Given the description of an element on the screen output the (x, y) to click on. 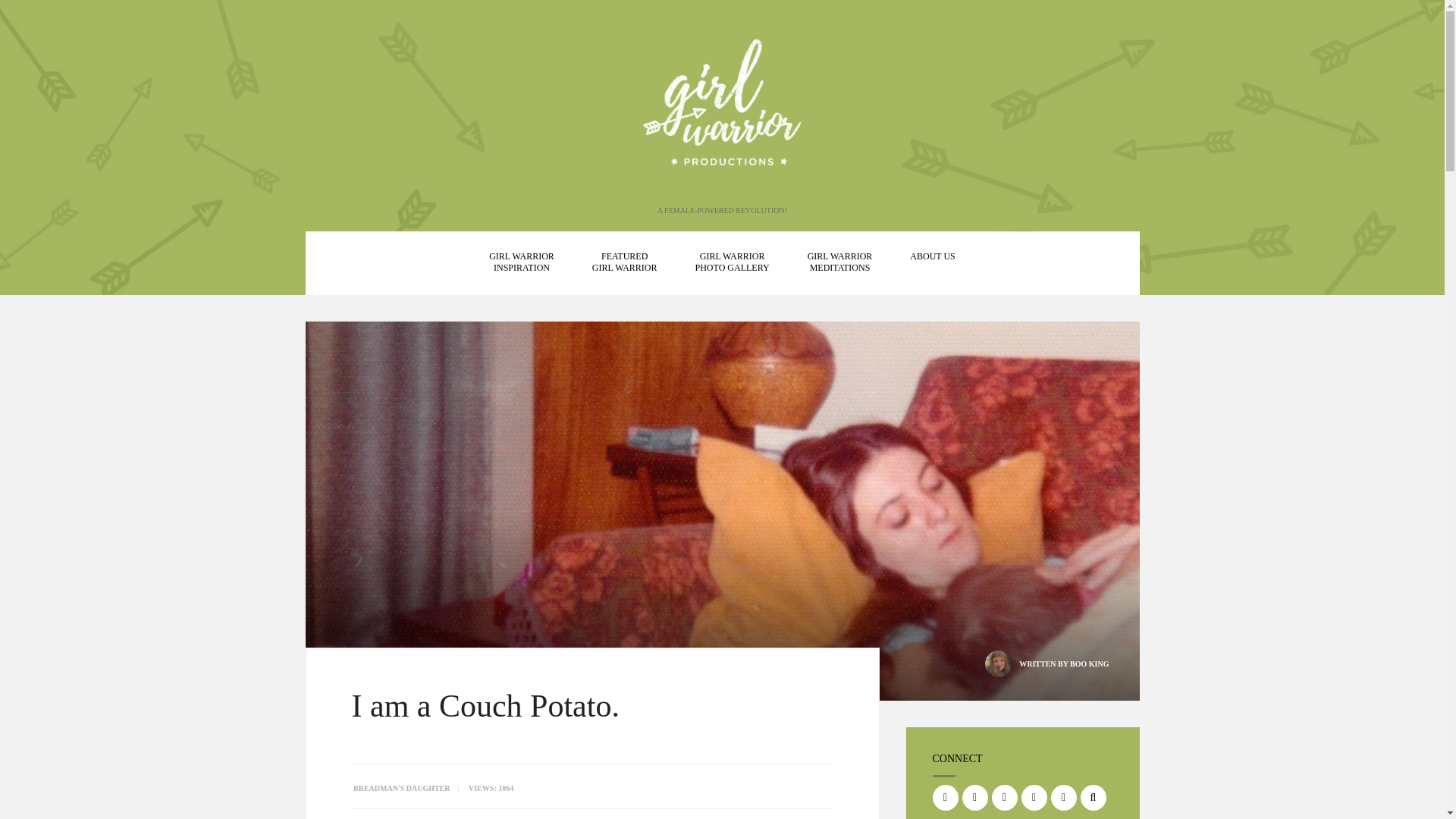
Girl Warrior Photo Gallery (732, 262)
BOO KING (625, 262)
Posts by Boo King (840, 262)
ABOUT US (732, 262)
Girl Warrior Meditations (1089, 664)
BREADMAN'S DAUGHTER (1089, 664)
Featured Girl Warrior profiles (932, 256)
